Given the description of an element on the screen output the (x, y) to click on. 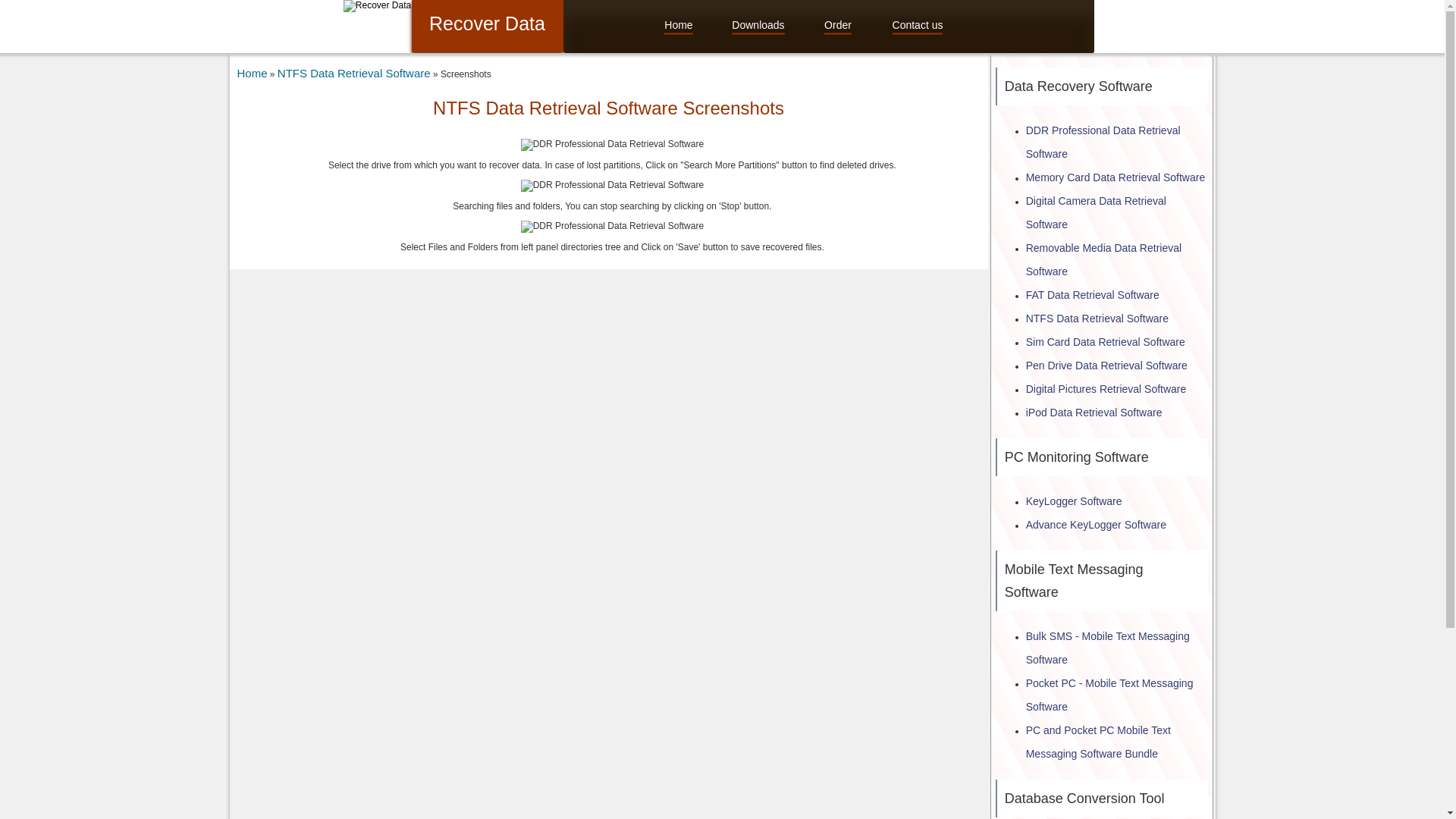
KeyLogger Software (1074, 500)
Bulk SMS - Mobile Text Messaging Software (1107, 647)
Memory Card Data Retrieval Software (1115, 177)
Order (837, 26)
Pen Drive Data Retrieval Software (1107, 365)
Contact us (917, 26)
DDR Professional Data Retrieval Software (1103, 141)
Advance KeyLogger Software (1096, 524)
Removable Media Data Retrieval Software (1103, 259)
Contact us (917, 26)
Downloads (758, 26)
Recover Data (376, 5)
Home (250, 72)
Digital Pictures Retrieval Software (1106, 388)
NTFS Data Retrieval Software (1097, 318)
